Given the description of an element on the screen output the (x, y) to click on. 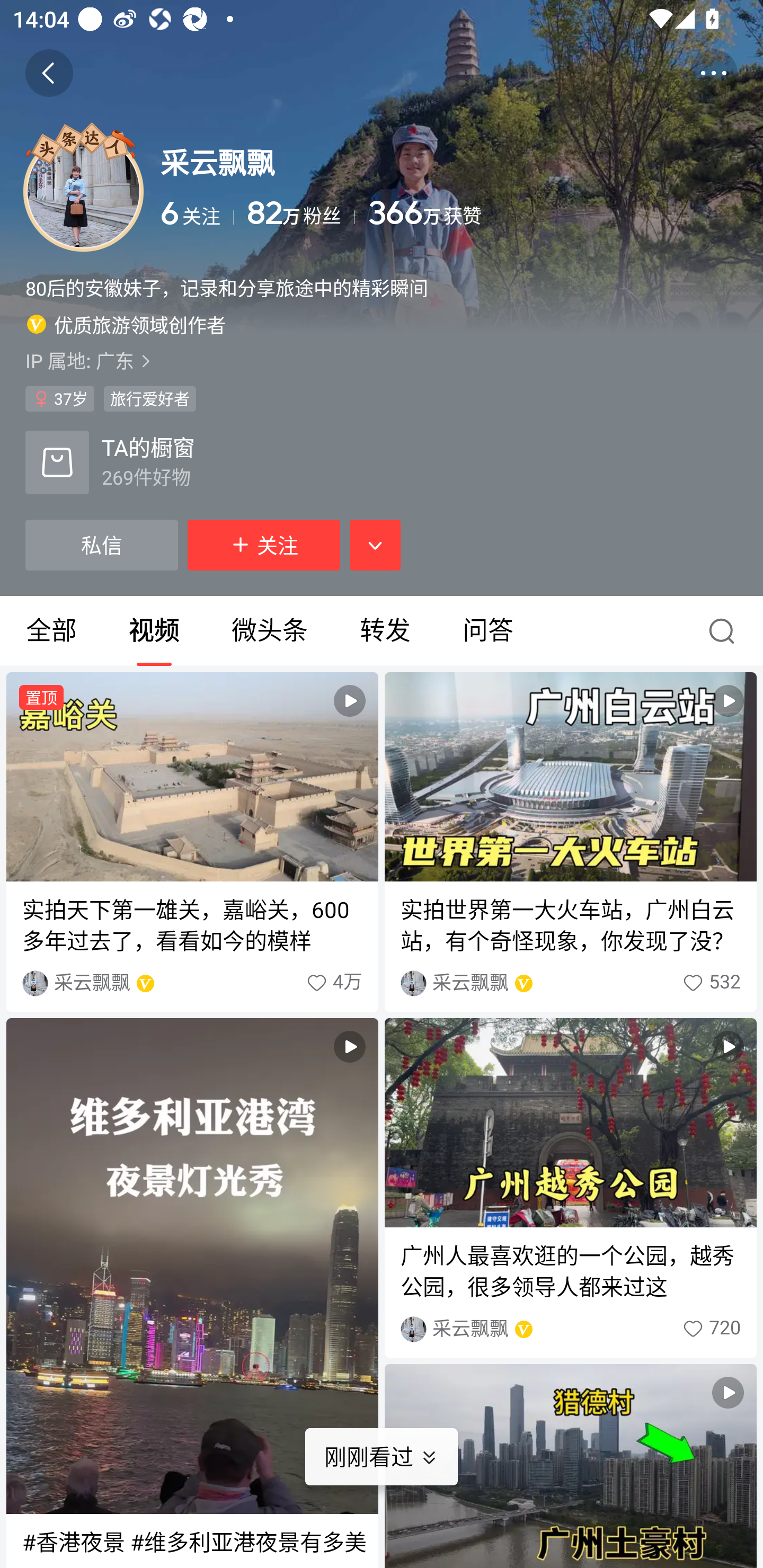
返回 (49, 72)
更多操作 (713, 72)
头像 (83, 191)
6 关注 (197, 213)
82万 粉丝 (300, 213)
366万 获赞 (552, 213)
优质旅游领域创作者 (125, 324)
IP 属地: 广东 (381, 360)
性别女，年龄37岁 37岁 (59, 397)
旅行爱好者 (149, 397)
它的橱窗, 269件好物, 按钮 TA的橱窗 269件好物 (110, 462)
私信 (101, 544)
     关注 (263, 544)
展开相关推荐，按钮 (374, 544)
全部 (51, 630)
视频 (154, 630)
微头条 (269, 630)
转发 (385, 630)
问答 (487, 630)
搜索 (726, 630)
视频 #香港夜景 #维多利亚港夜景有多美  (192, 1292)
视频 (570, 1466)
刚刚看过 (393, 1456)
